Given the description of an element on the screen output the (x, y) to click on. 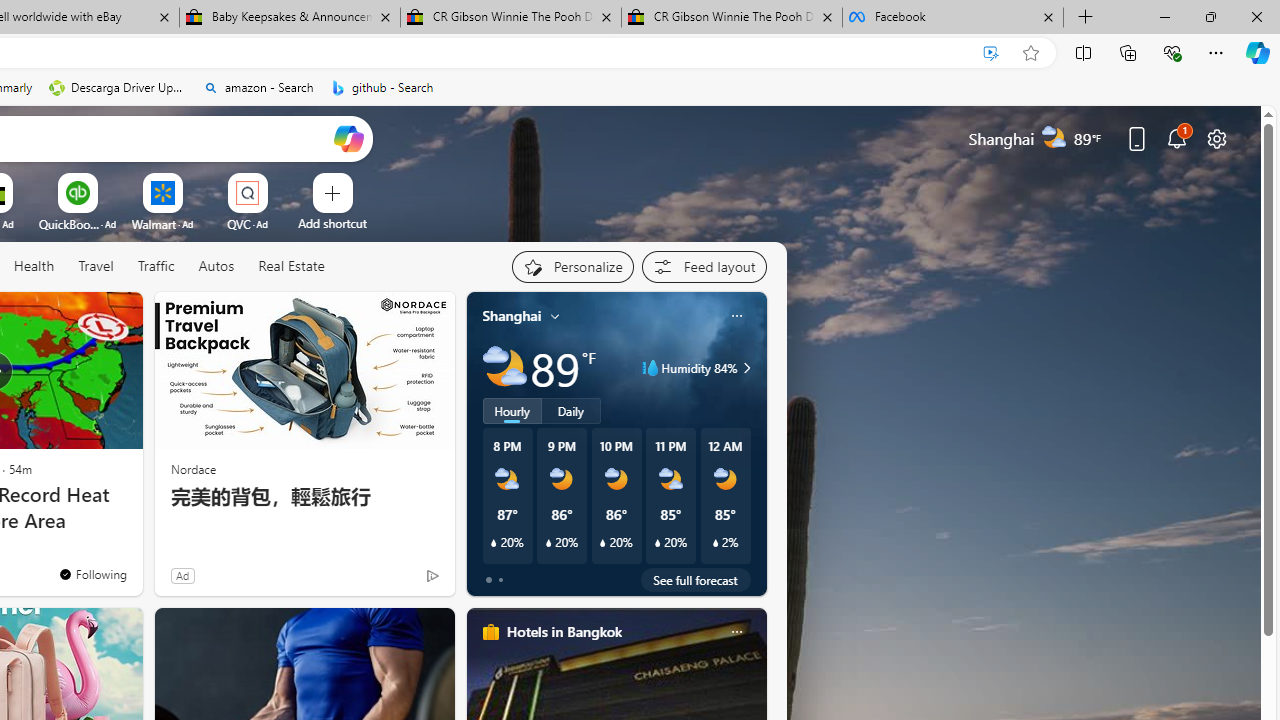
Shanghai (511, 315)
Enhance video (991, 53)
Autos (215, 265)
Notifications (1176, 138)
Traffic (155, 267)
Personalize your feed" (571, 266)
More Options (279, 179)
